Given the description of an element on the screen output the (x, y) to click on. 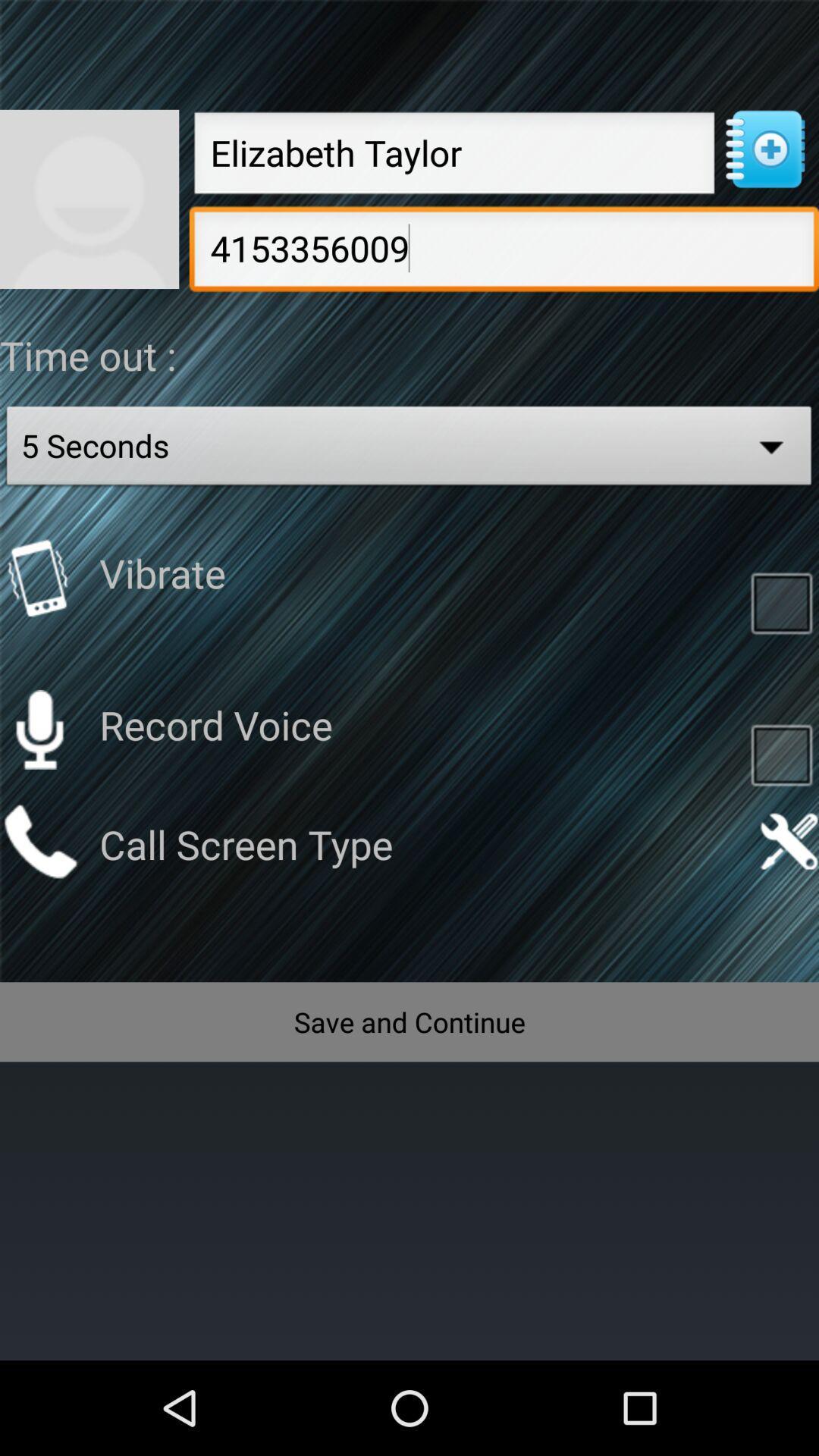
show more contacts (764, 149)
